Given the description of an element on the screen output the (x, y) to click on. 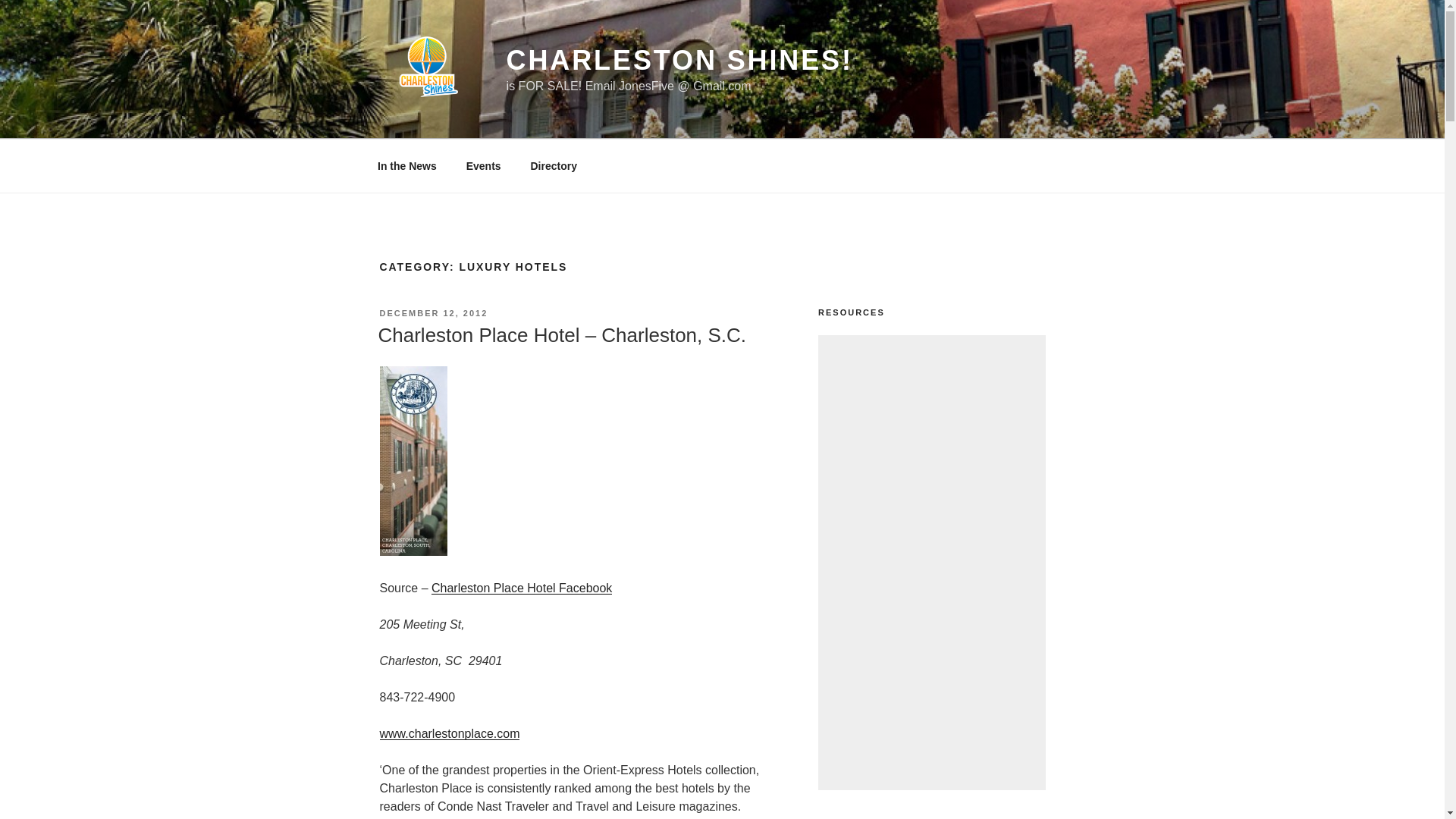
DECEMBER 12, 2012 (432, 312)
Directory (552, 165)
CHARLESTON SHINES! (679, 60)
Charleston Place Hotel Facebook (520, 587)
www.charlestonplace.com (448, 733)
In the News (406, 165)
Events (482, 165)
